Given the description of an element on the screen output the (x, y) to click on. 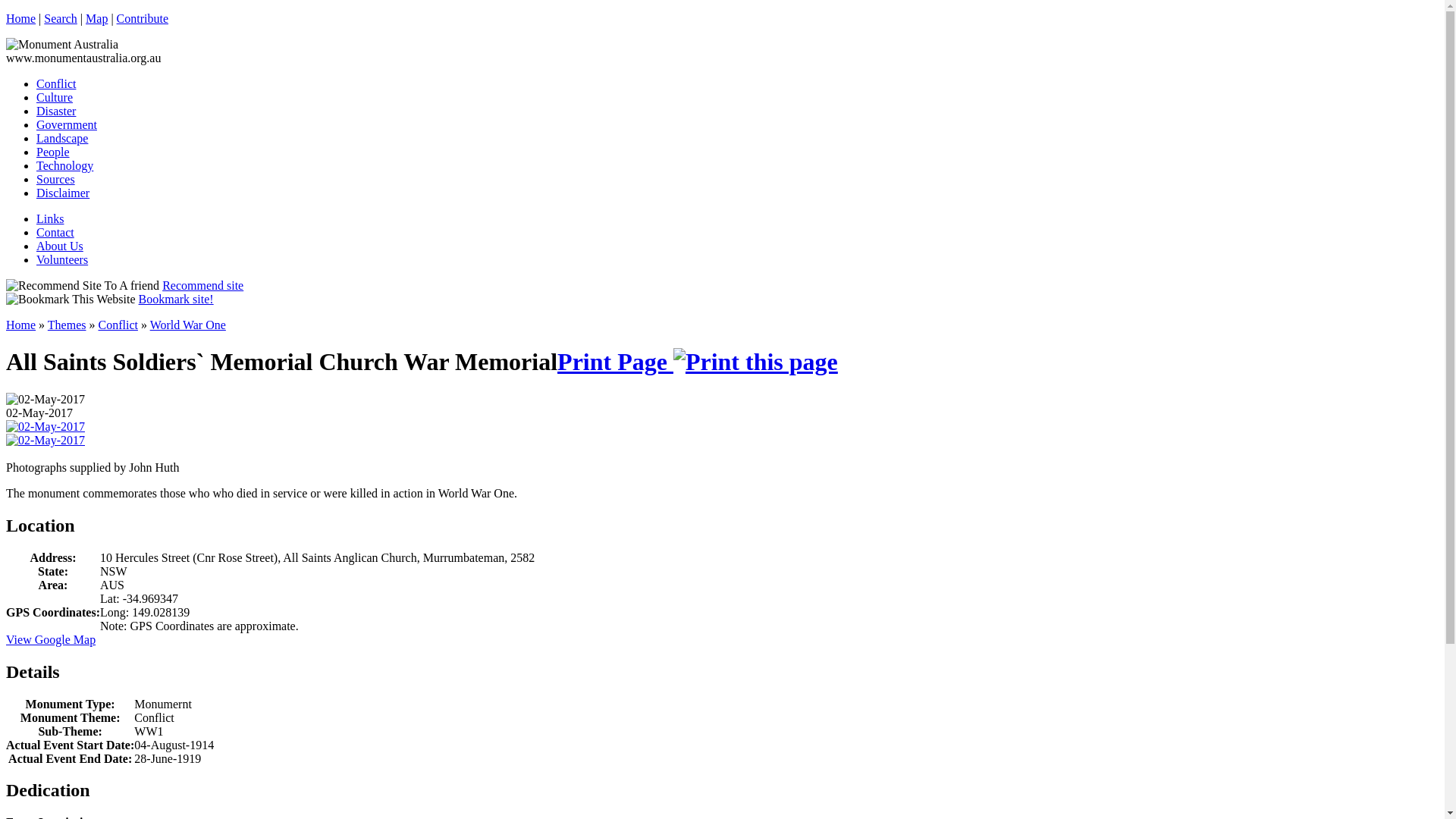
Culture Element type: text (54, 97)
Print Page Element type: text (697, 361)
Contribute Element type: text (142, 18)
Sources Element type: text (55, 178)
Conflict Element type: text (117, 324)
Print this page Element type: hover (755, 362)
Themes Element type: text (66, 324)
Home Element type: text (20, 18)
Search Element type: text (60, 18)
Landscape Element type: text (61, 137)
Links Element type: text (49, 218)
Government Element type: text (66, 124)
World War One Element type: text (187, 324)
About Us Element type: text (59, 245)
Contact Element type: text (55, 231)
Recommend site Element type: text (202, 285)
Conflict Element type: text (55, 83)
People Element type: text (52, 151)
Home Element type: text (20, 324)
Bookmark site! Element type: text (175, 298)
Technology Element type: text (64, 165)
Disclaimer Element type: text (62, 192)
02-May-2017 Element type: hover (45, 426)
02-May-2017 Element type: hover (45, 399)
Disaster Element type: text (55, 110)
Volunteers Element type: text (61, 259)
Map Element type: text (96, 18)
View Google Map Element type: text (50, 639)
02-May-2017 Element type: hover (45, 440)
